Given the description of an element on the screen output the (x, y) to click on. 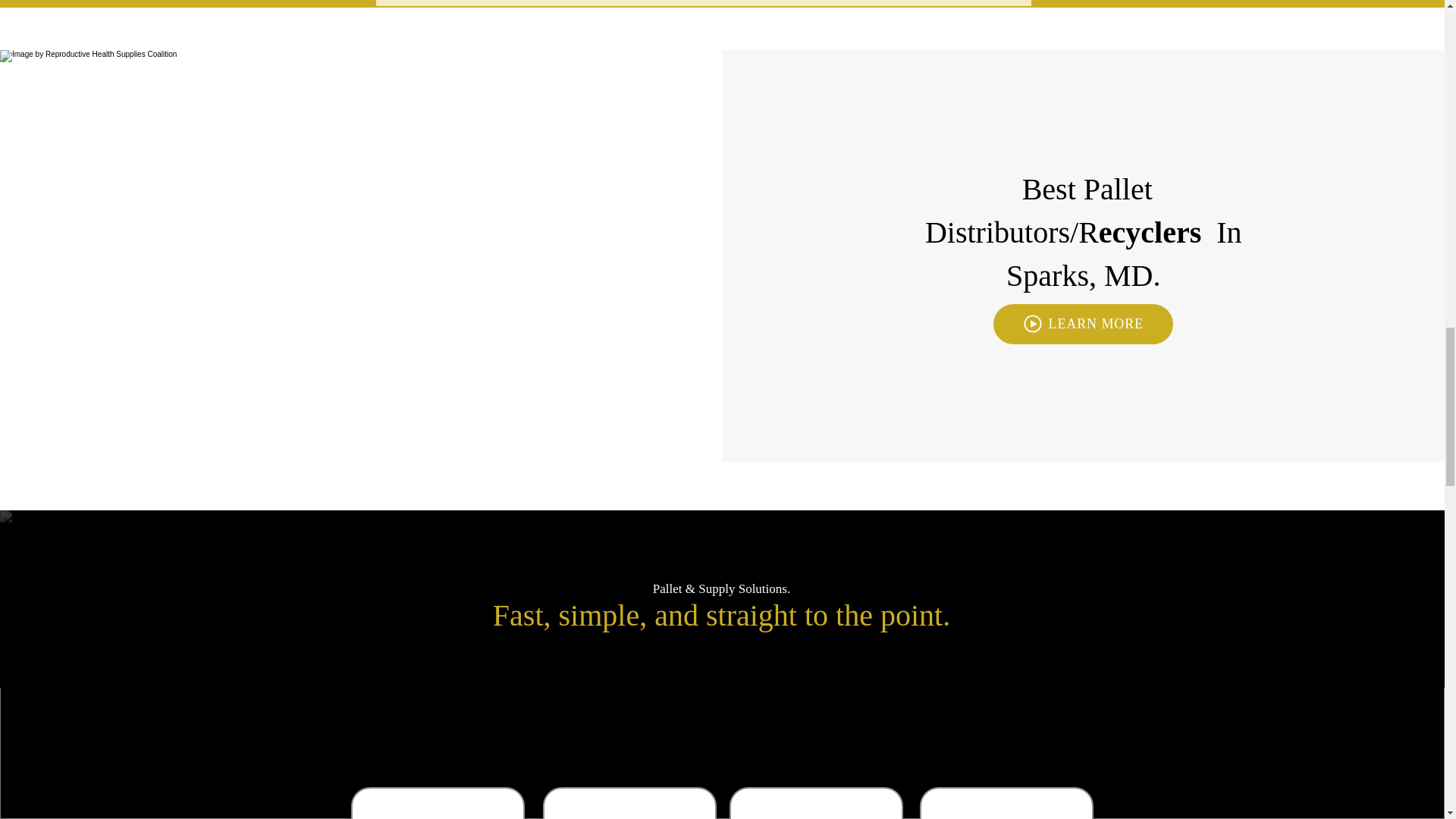
LEARN MORE (1082, 323)
